Given the description of an element on the screen output the (x, y) to click on. 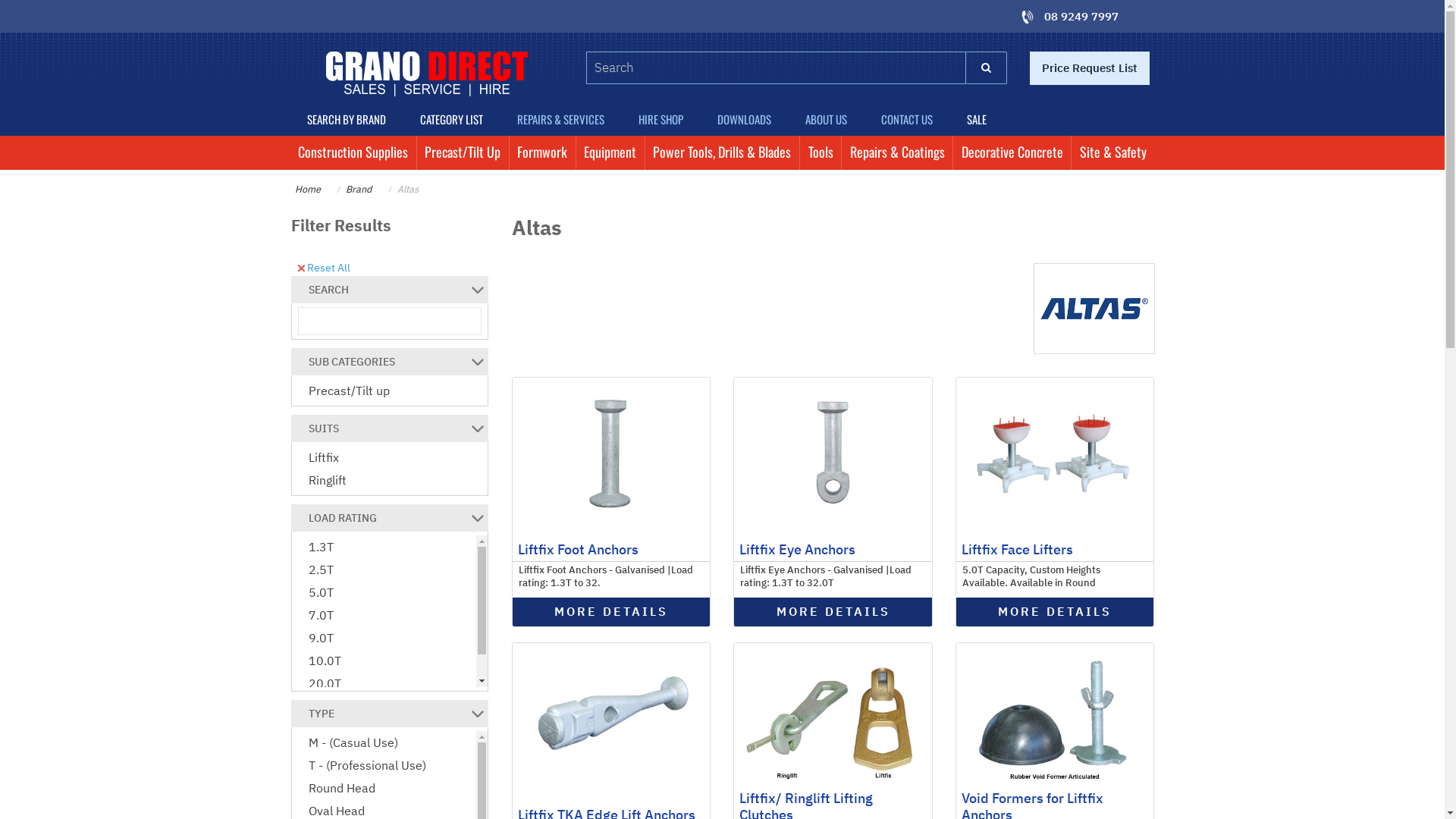
SEARCH BY BRAND Element type: text (345, 119)
Grano Direct Element type: hover (426, 73)
CATEGORY LIST Element type: text (451, 119)
ABOUT US Element type: text (826, 119)
Tools Element type: text (820, 152)
Void Formers for Liftfix Anchors Element type: hover (1054, 716)
DOWNLOADS Element type: text (744, 119)
Liftfix TKA Edge Lift Anchors Element type: hover (610, 716)
REPAIRS & SERVICES Element type: text (560, 119)
Liftfix/ Ringlift Lifting Clutches Element type: hover (832, 716)
HIRE SHOP Element type: text (660, 119)
Liftfix Face Lifters Element type: text (1017, 549)
Price Request List Element type: text (1089, 67)
MORE DETAILS Element type: text (610, 611)
Repairs & Coatings Element type: text (896, 152)
Power Tools, Drills & Blades Element type: text (722, 152)
Formwork Element type: text (542, 152)
CONTACT US Element type: text (907, 119)
Site & Safety Element type: text (1112, 152)
MORE DETAILS Element type: text (1054, 611)
SALE Element type: text (976, 119)
Brand Element type: text (358, 188)
Decorative Concrete Element type: text (1011, 152)
Liftfix Foot Anchors Element type: hover (610, 451)
Equipment Element type: text (610, 152)
Home Element type: text (307, 188)
MORE DETAILS Element type: text (832, 611)
Reset All Element type: text (323, 266)
Liftfix Face Lifters Element type: hover (1054, 451)
Altas Element type: text (407, 188)
Precast/Tilt Up Element type: text (462, 152)
Liftfix Foot Anchors Element type: text (577, 549)
Construction Supplies Element type: text (352, 152)
Liftfix Eye Anchors Element type: text (797, 549)
Liftfix Eye Anchors Element type: hover (832, 451)
